Given the description of an element on the screen output the (x, y) to click on. 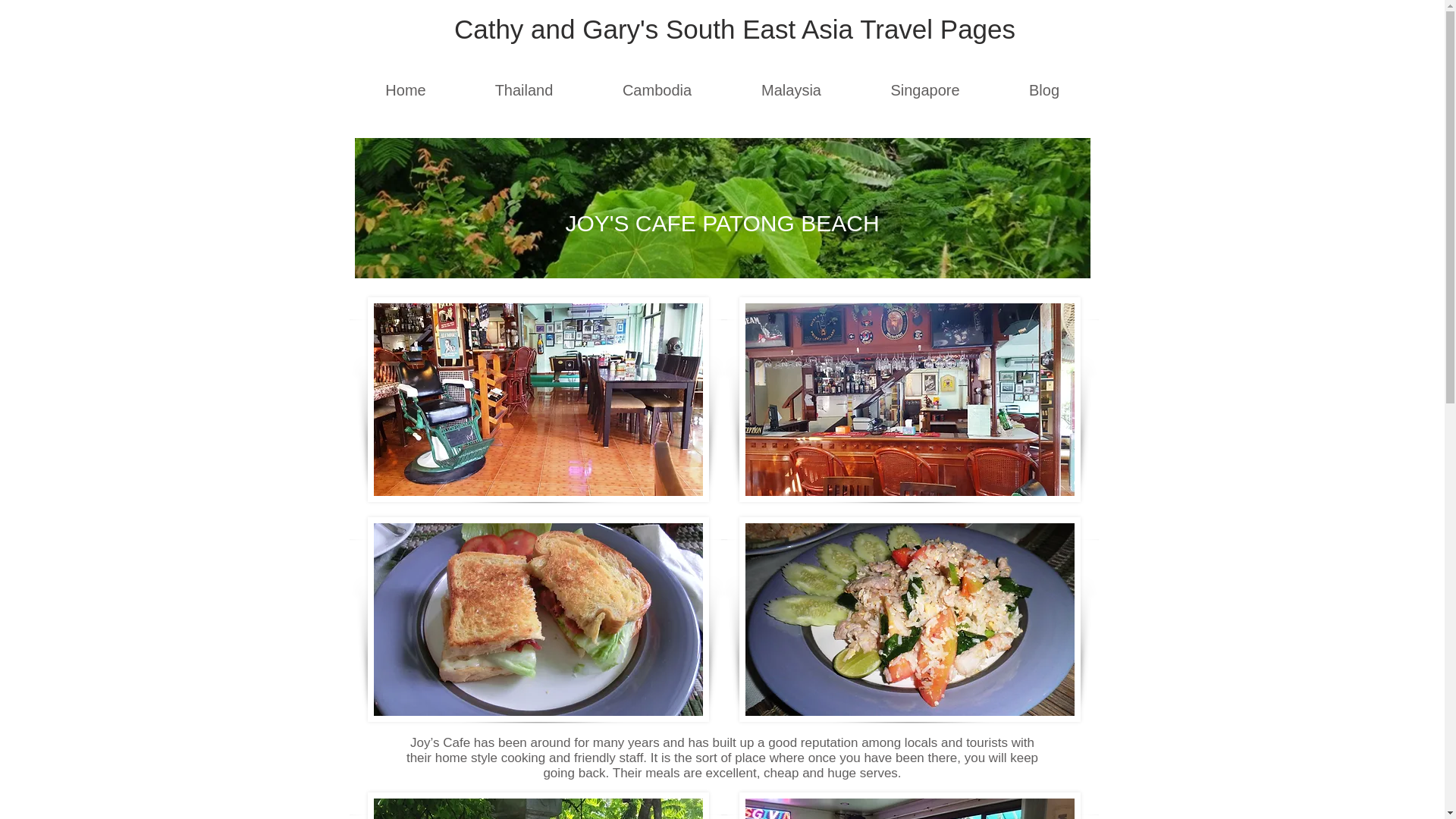
Blog (1044, 90)
Joy's Cafe - Patong Beach (909, 399)
Joy's Cafe - Patong Beach (909, 618)
Joy's Cafe - Patong Beach (536, 399)
Home (405, 90)
Joy's Cafe - Best Toasted Sandwiches (536, 618)
Joy's Cafe (536, 805)
Joy's Cafe - Patong Beach (909, 805)
